Given the description of an element on the screen output the (x, y) to click on. 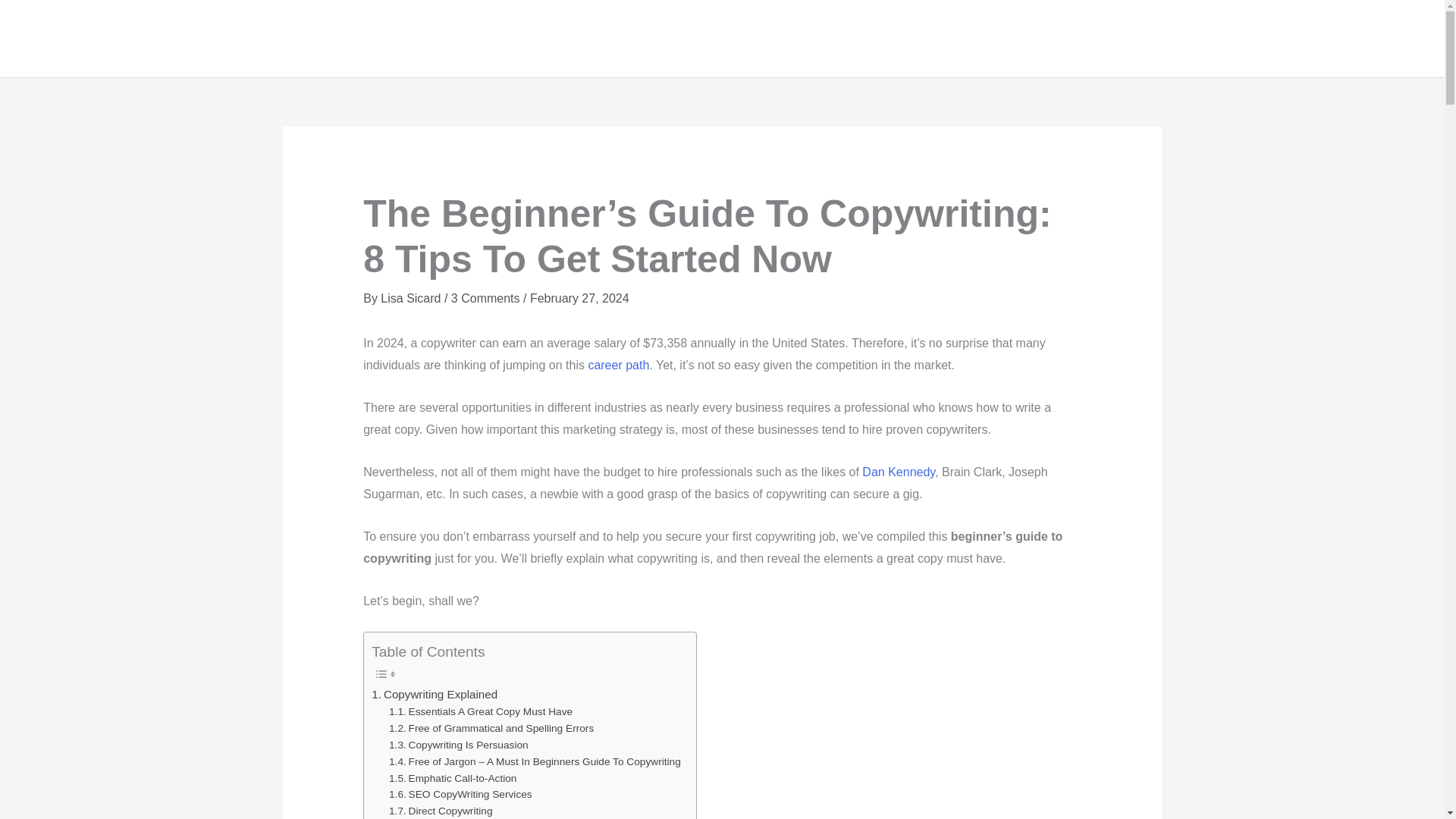
To Inspire You To Thrive Online (975, 38)
Blog (1216, 38)
Dan Kennedy (897, 472)
SEO (1272, 38)
Copywriting Explained (434, 694)
career path (618, 364)
Home (975, 38)
Social Media (1353, 38)
View all posts by Lisa Sicard (412, 297)
Free of Grammatical and Spelling Errors (491, 728)
Emphatic Call-to-Action (452, 778)
3 Comments (485, 297)
SM Services (1134, 38)
About (1044, 38)
Social Media (1353, 38)
